Given the description of an element on the screen output the (x, y) to click on. 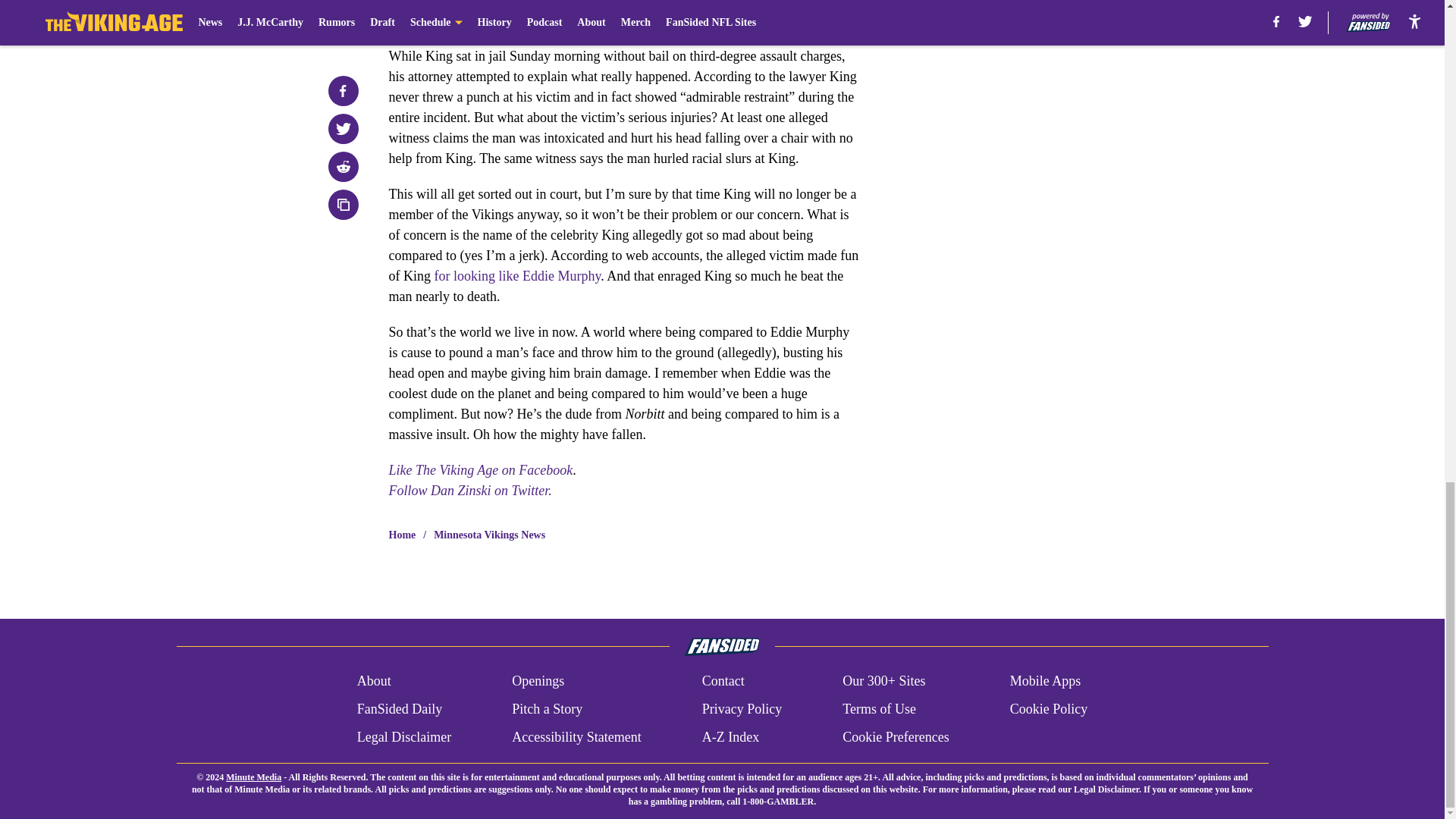
Pitch a Story (547, 709)
Openings (538, 680)
for looking like Eddie Murphy (516, 275)
Home (401, 534)
Minnesota Vikings News (488, 534)
Mobile Apps (1045, 680)
Terms of Use (879, 709)
About (373, 680)
Contact (722, 680)
Privacy Policy (742, 709)
